Given the description of an element on the screen output the (x, y) to click on. 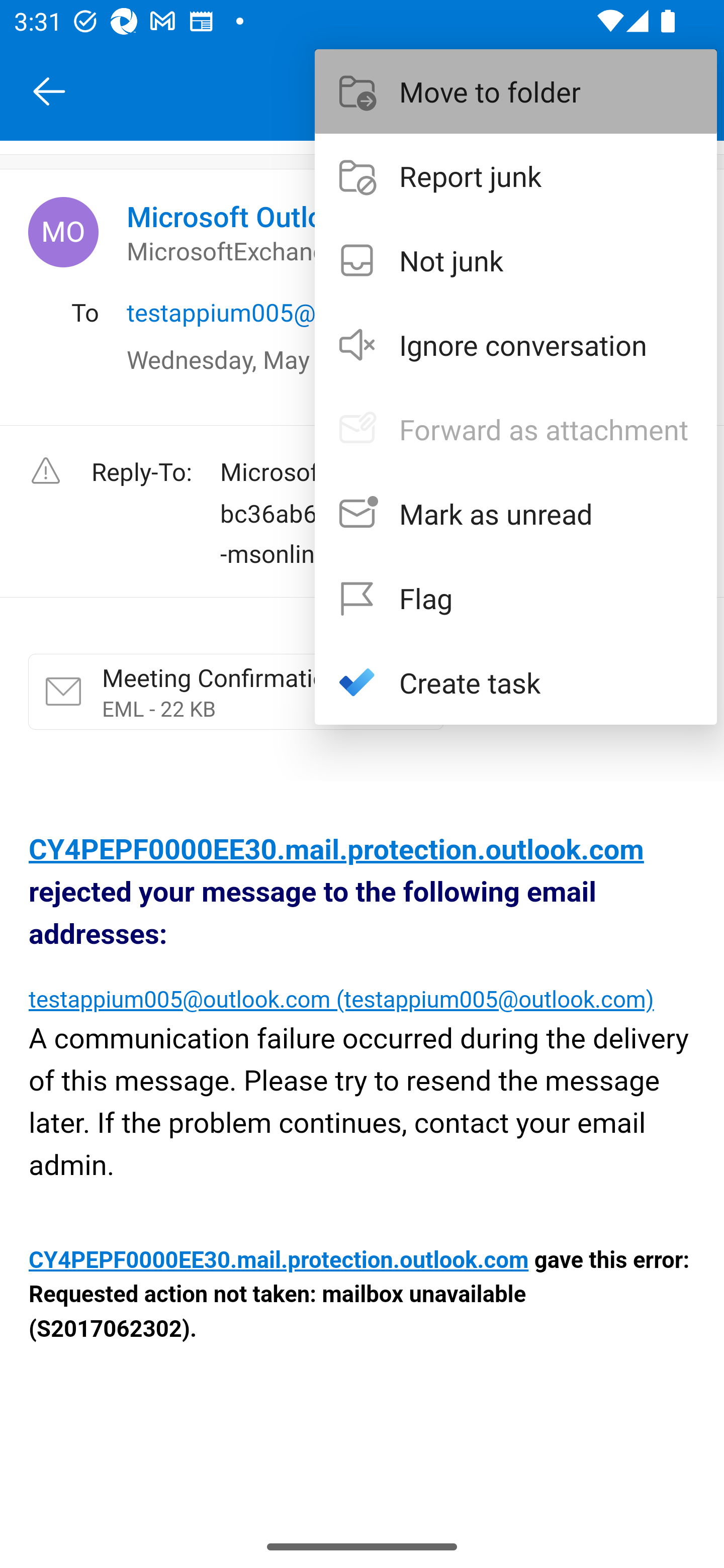
Move to folder (515, 90)
Report junk (515, 175)
Not junk (515, 259)
Ignore conversation (515, 344)
Forward as attachment (515, 429)
Mark as unread (515, 513)
Flag (515, 597)
Create task (515, 681)
